Given the description of an element on the screen output the (x, y) to click on. 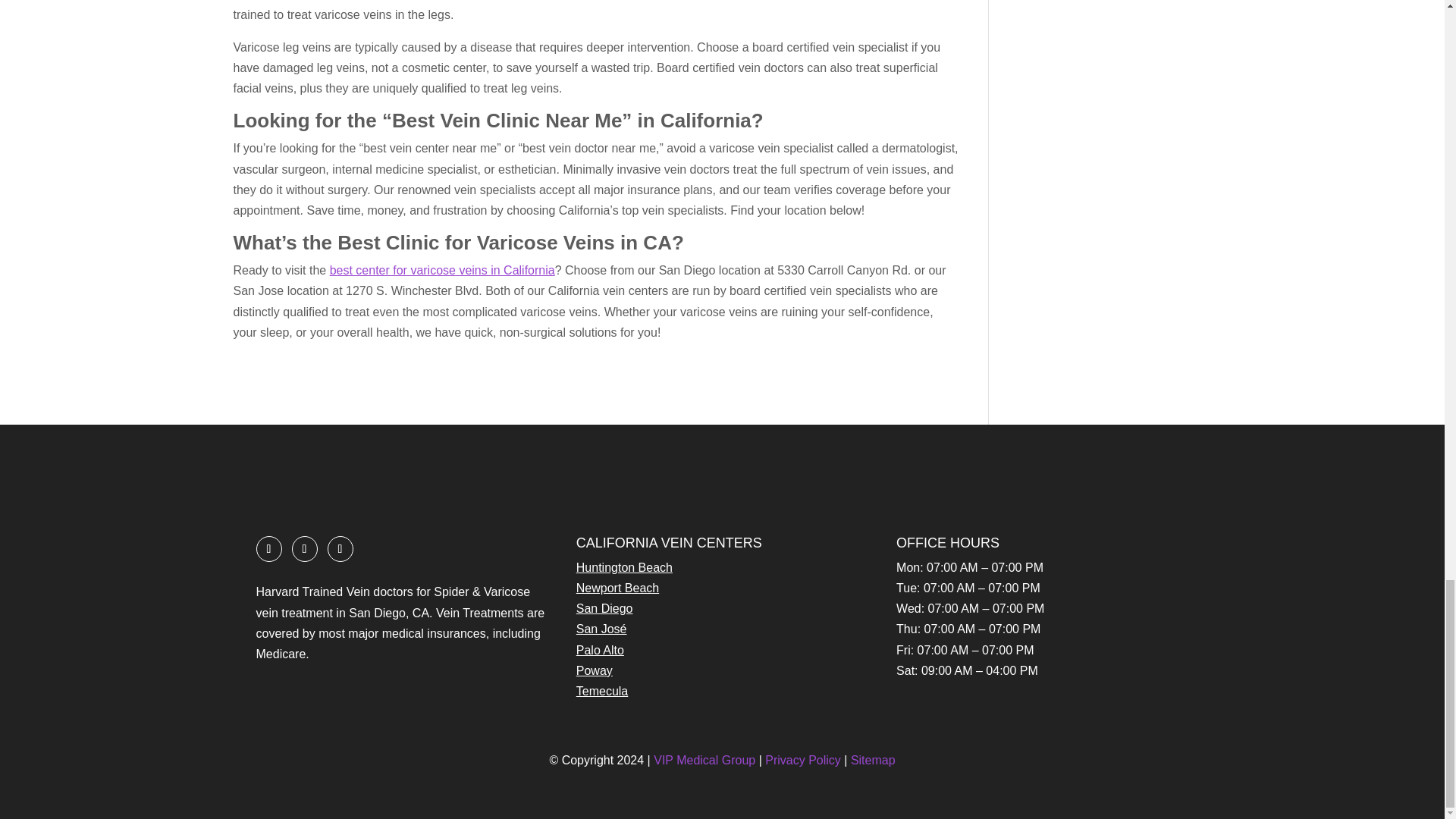
Follow on Facebook (269, 548)
best center for varicose veins in California (442, 269)
logo-light (348, 469)
Follow on google-plus (304, 548)
Follow on Youtube (340, 548)
